Given the description of an element on the screen output the (x, y) to click on. 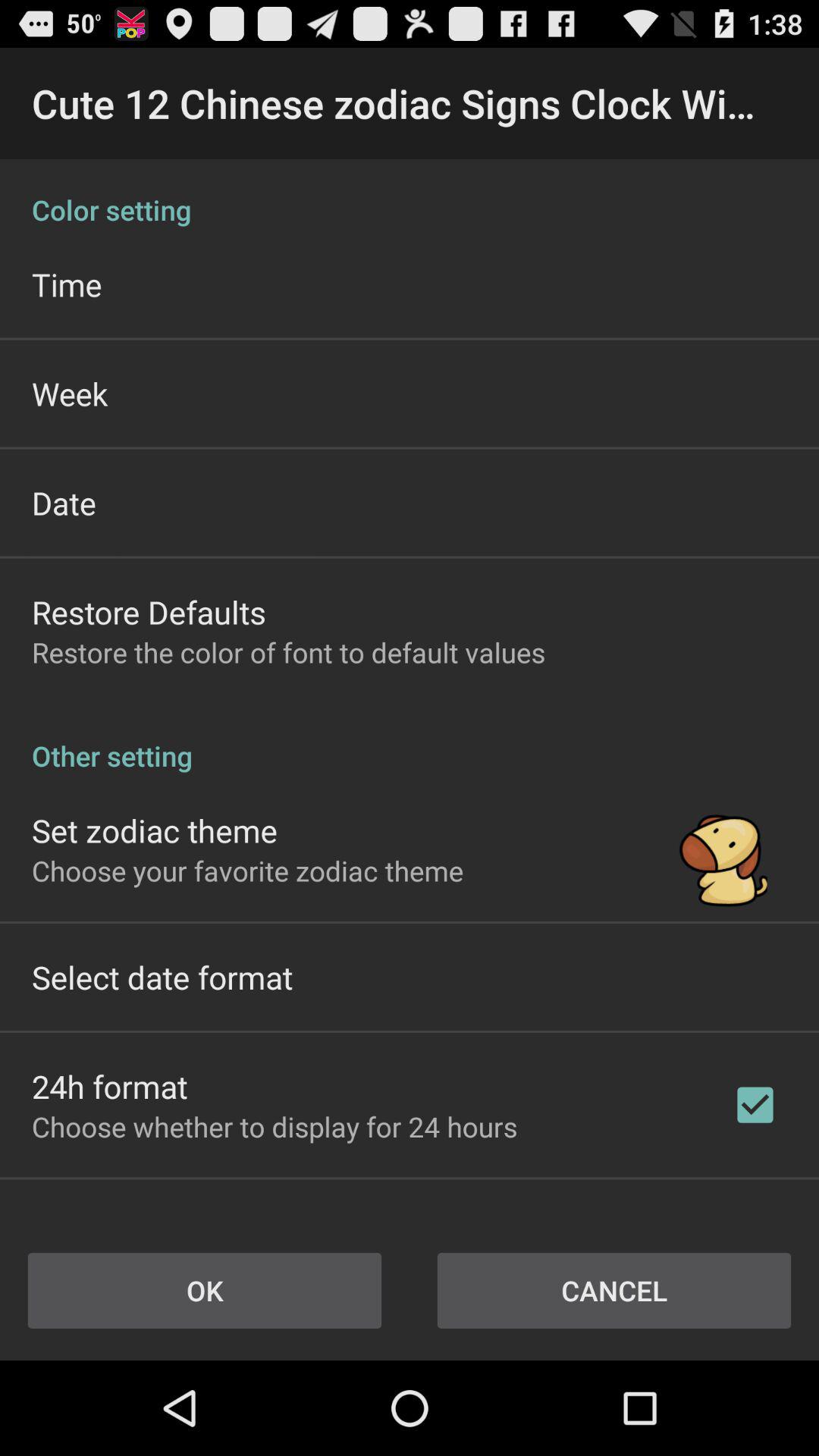
jump until week app (69, 393)
